Given the description of an element on the screen output the (x, y) to click on. 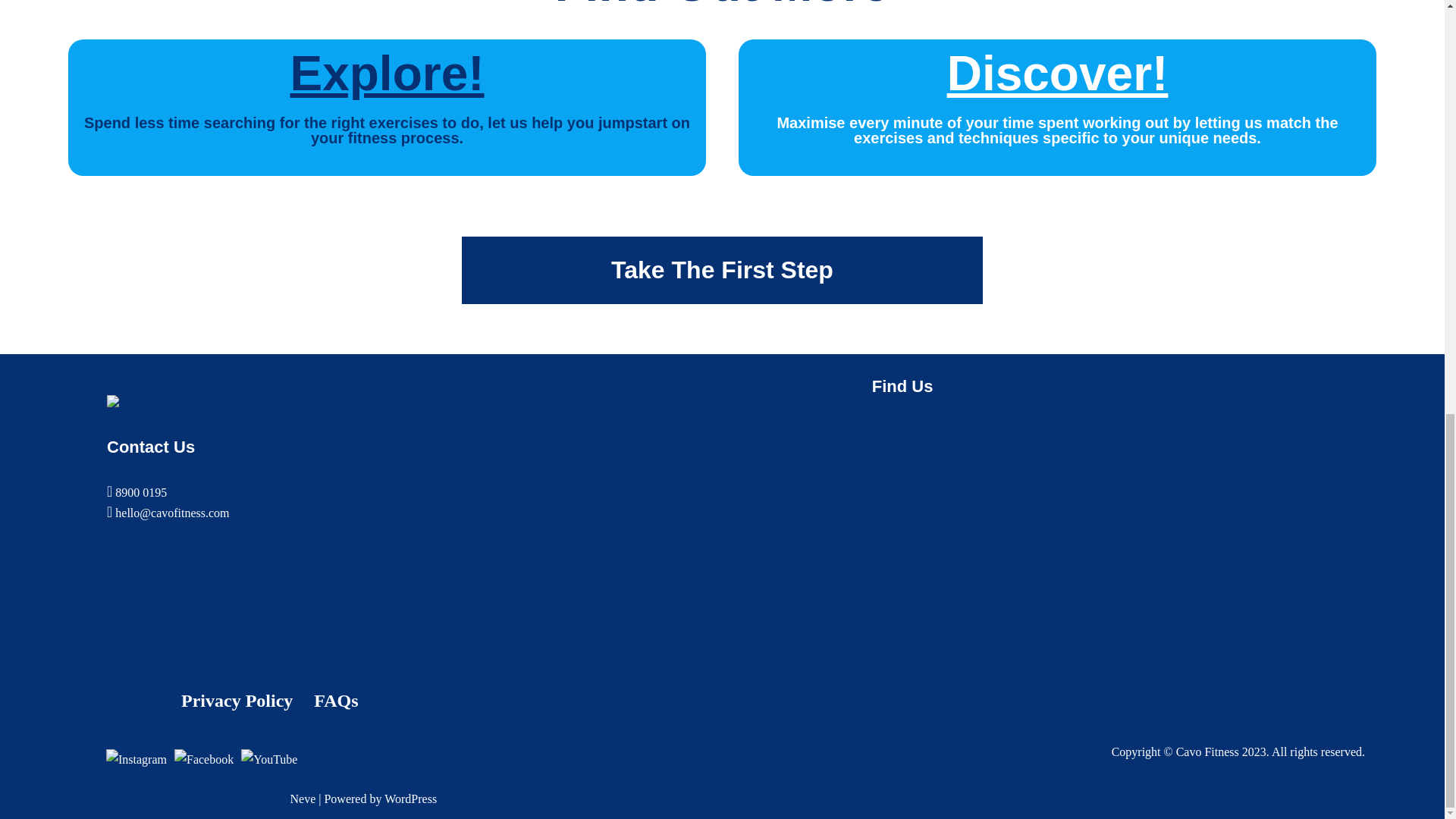
Discover! (1058, 72)
Privacy Policy (236, 699)
Neve (302, 798)
FAQs (336, 699)
Explore! (386, 72)
Take The First Step (721, 269)
